Given the description of an element on the screen output the (x, y) to click on. 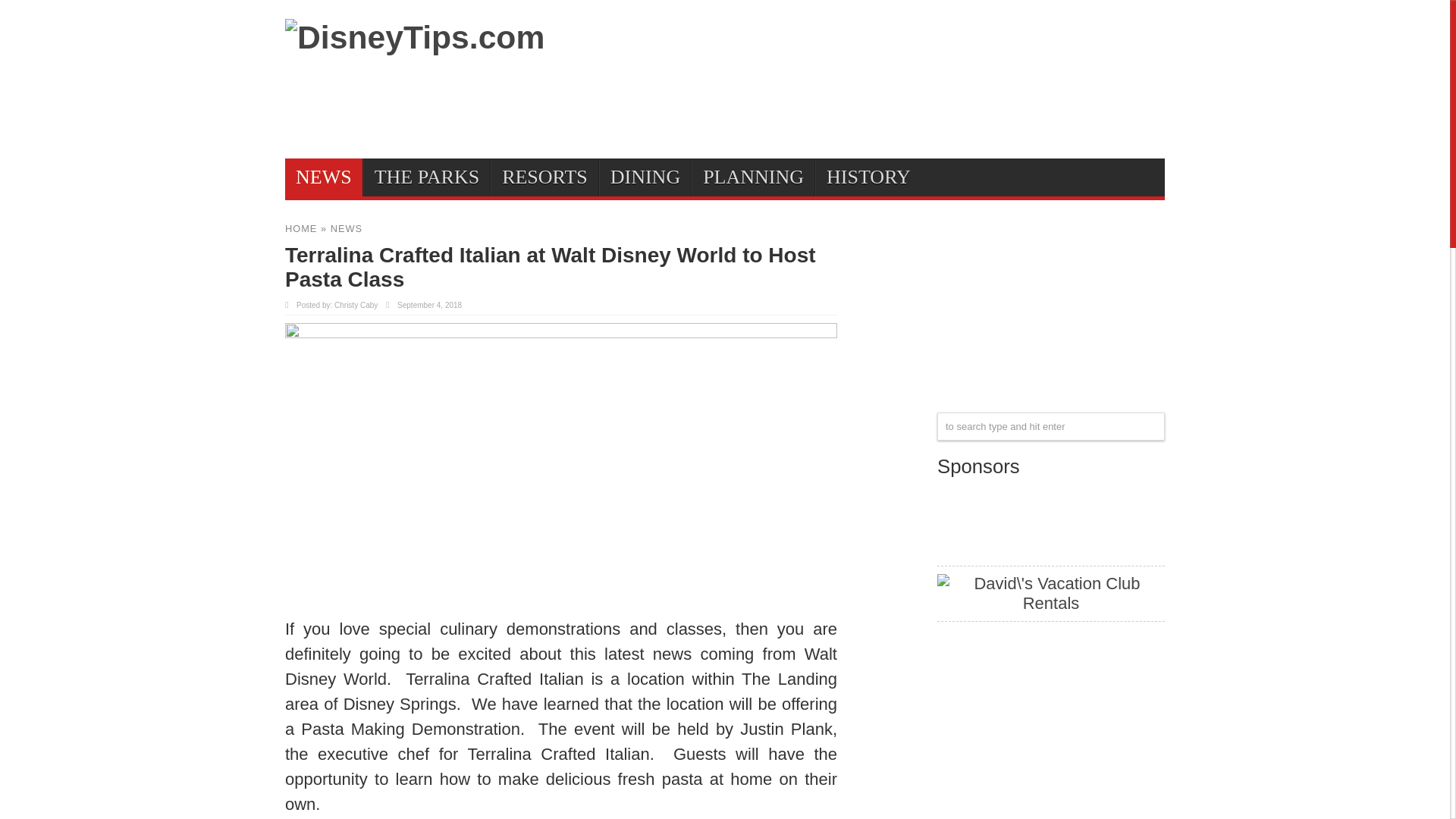
DisneyTips.com (414, 36)
THE PARKS (425, 177)
WDW Magazine (1050, 515)
HOME (301, 228)
NEWS (346, 228)
NEWS (323, 177)
PLANNING (752, 177)
DINING (644, 177)
Christy Caby (355, 305)
RESORTS (544, 177)
HISTORY (868, 177)
to search type and hit enter (1050, 426)
WDW Magazine (1050, 547)
